Given the description of an element on the screen output the (x, y) to click on. 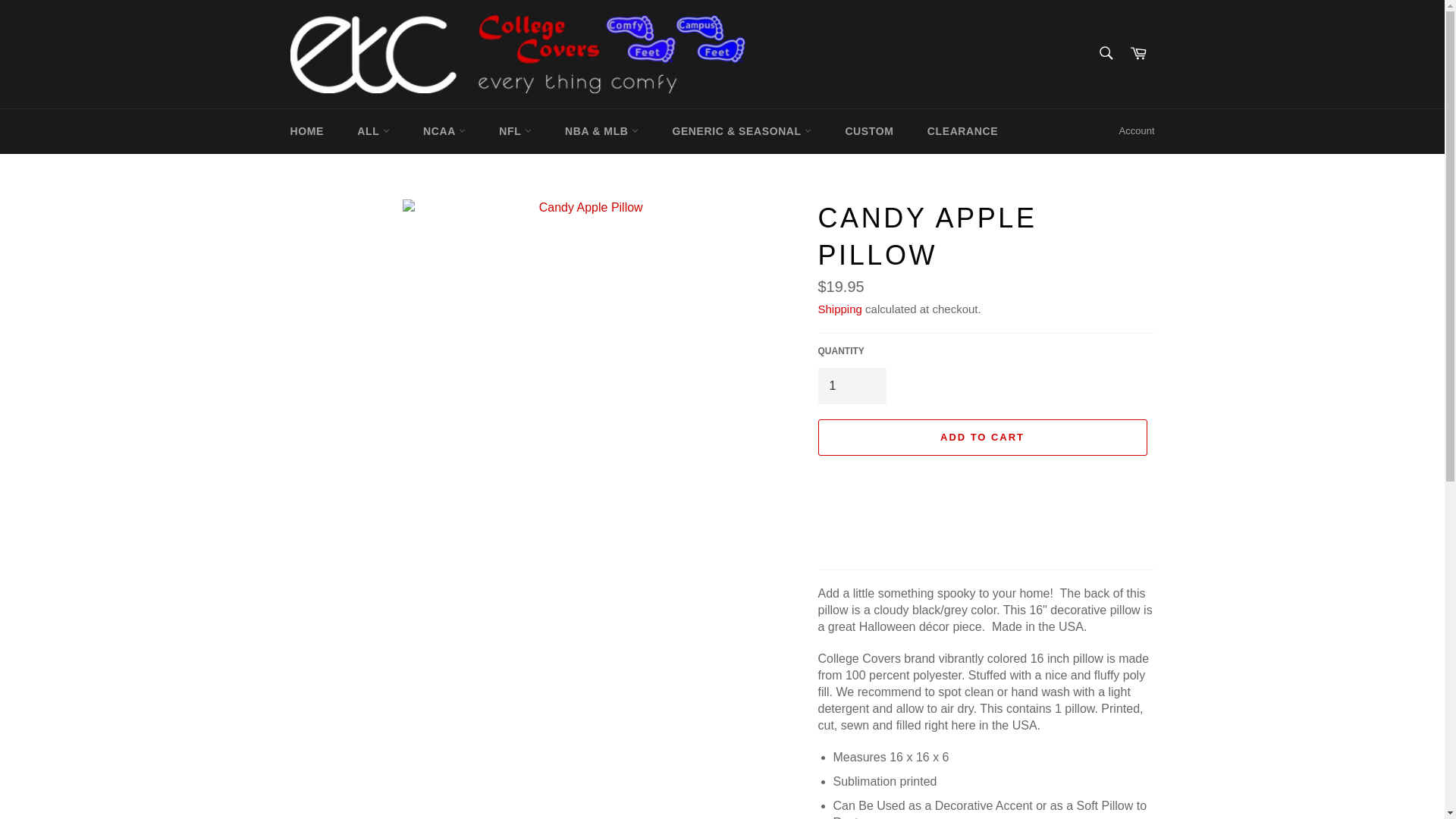
1 (850, 385)
